Given the description of an element on the screen output the (x, y) to click on. 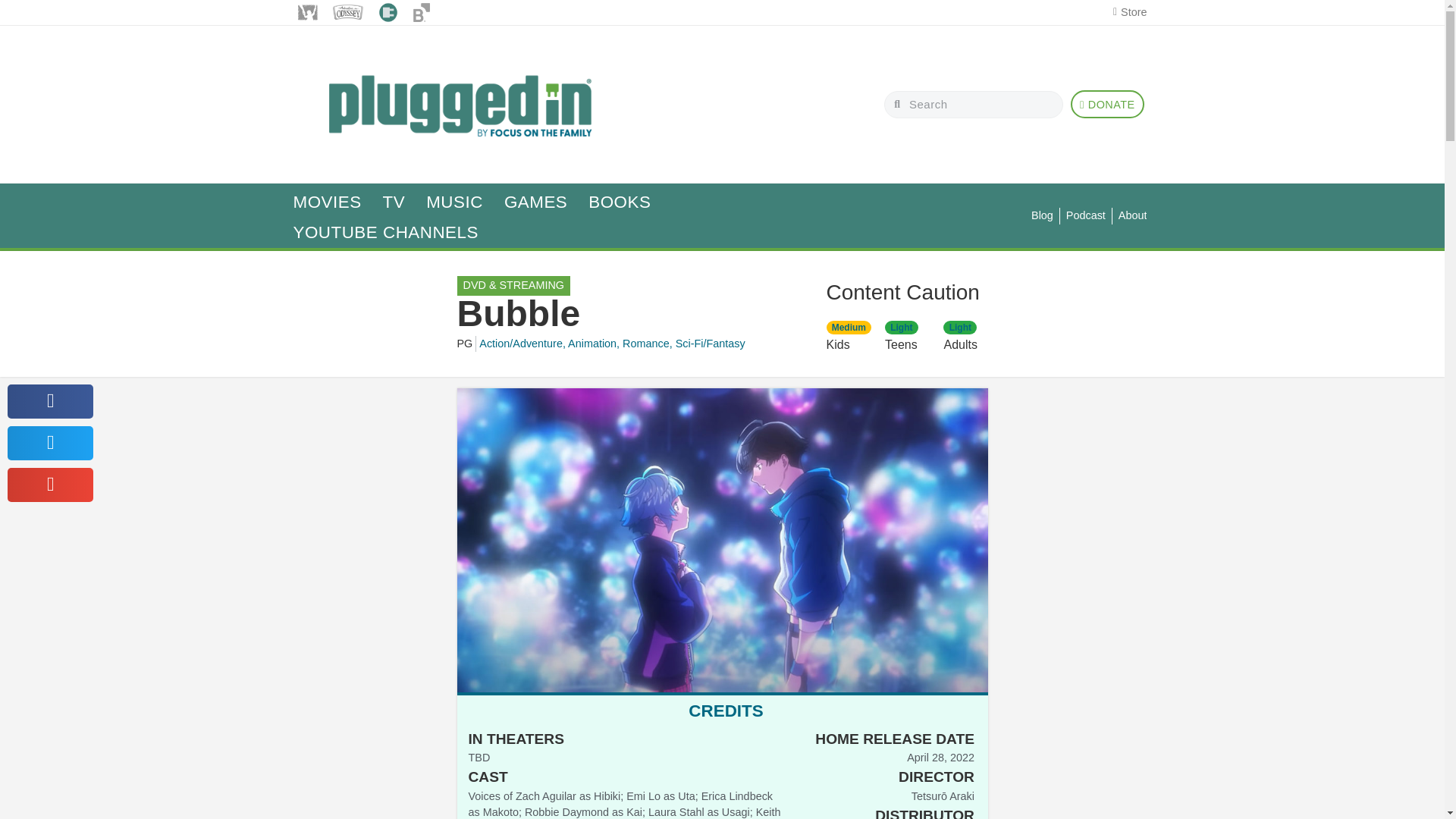
YOUTUBE CHANNELS (384, 232)
BOOKS (619, 202)
MOVIES (326, 202)
Store (1125, 12)
TV (394, 202)
MUSIC (453, 202)
GAMES (535, 202)
DONATE (1107, 103)
